Given the description of an element on the screen output the (x, y) to click on. 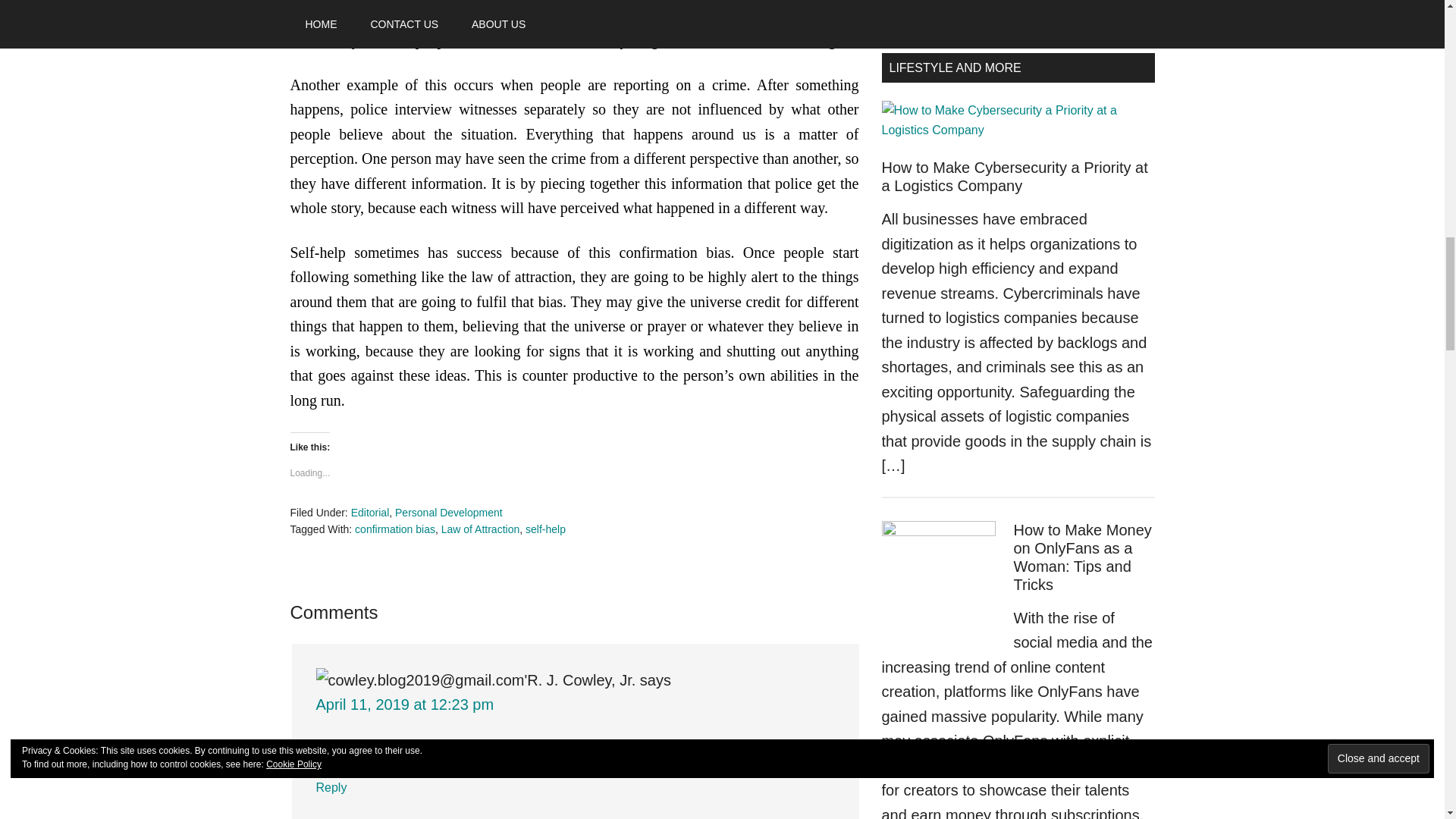
Editorial (370, 512)
Law of Attraction (480, 529)
confirmation bias (395, 529)
Reply (330, 787)
April 11, 2019 at 12:23 pm (404, 704)
self-help (545, 529)
Personal Development (448, 512)
